Given the description of an element on the screen output the (x, y) to click on. 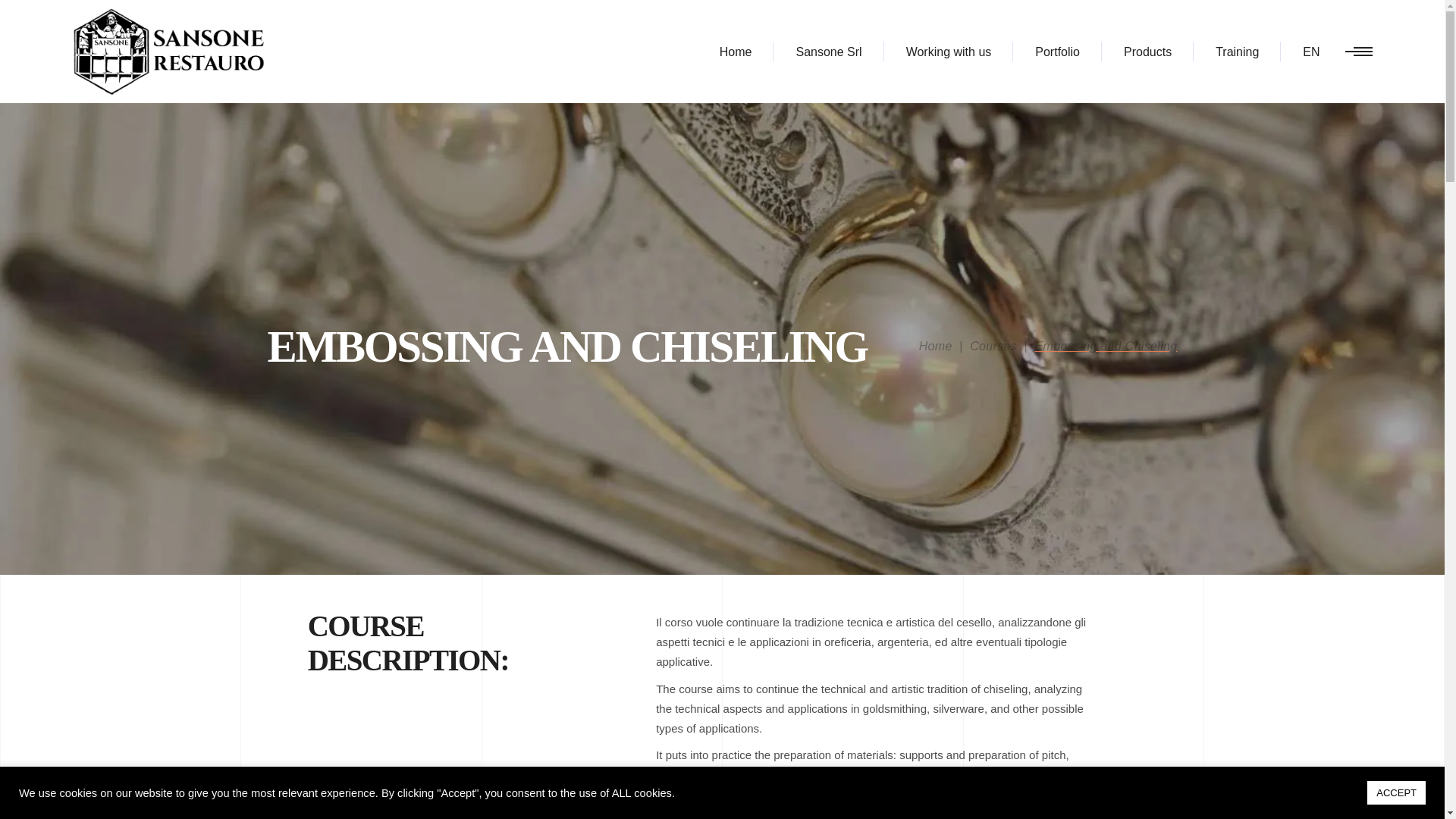
Products (1147, 51)
Training (1237, 51)
EN (1310, 51)
Working with us (948, 51)
Home (735, 51)
Portfolio (1057, 51)
Sansone Srl (828, 51)
